Given the description of an element on the screen output the (x, y) to click on. 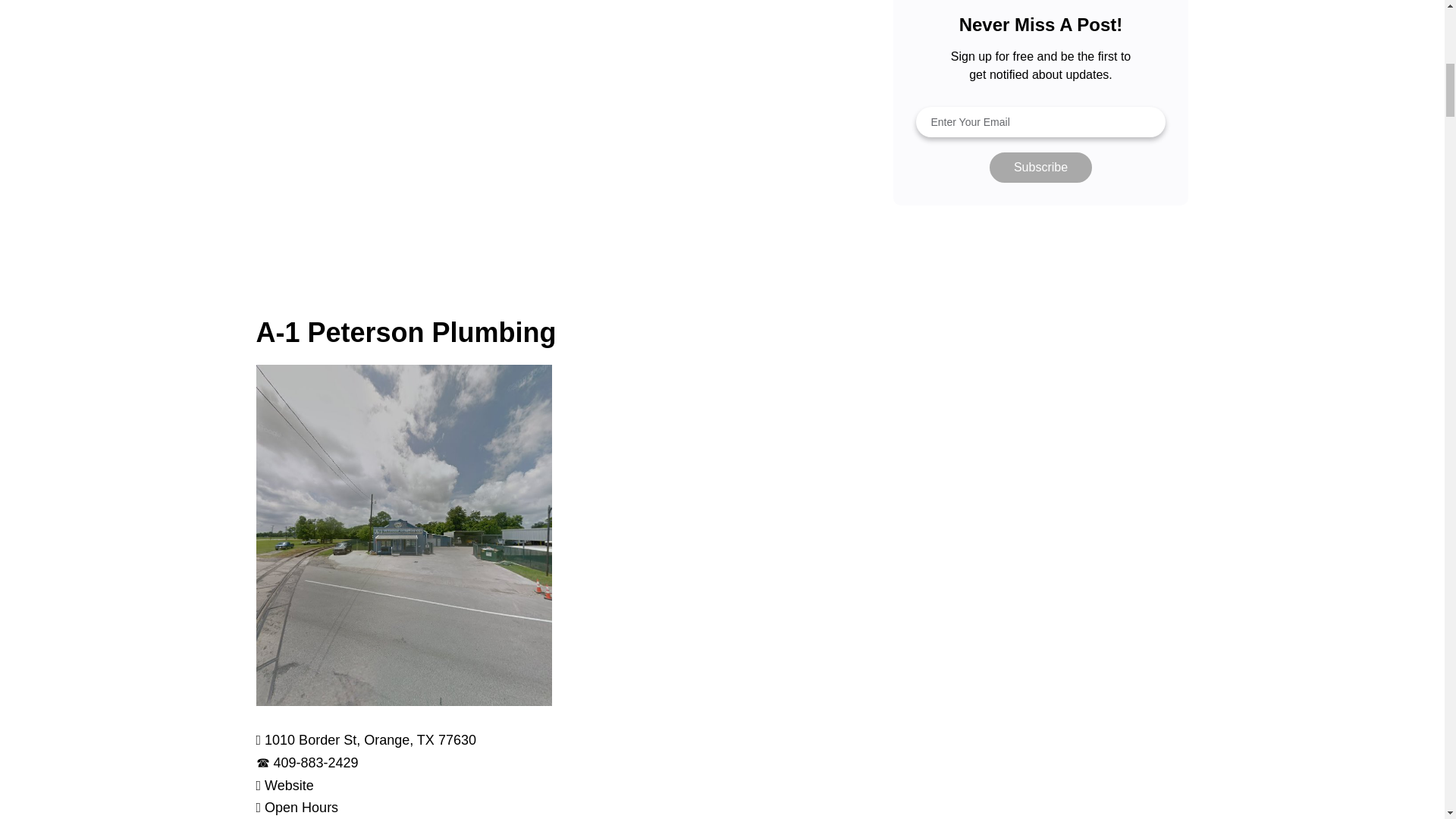
Website (289, 785)
409-883-2429 (315, 762)
1010 Border St, Orange, TX 77630 (370, 739)
